Given the description of an element on the screen output the (x, y) to click on. 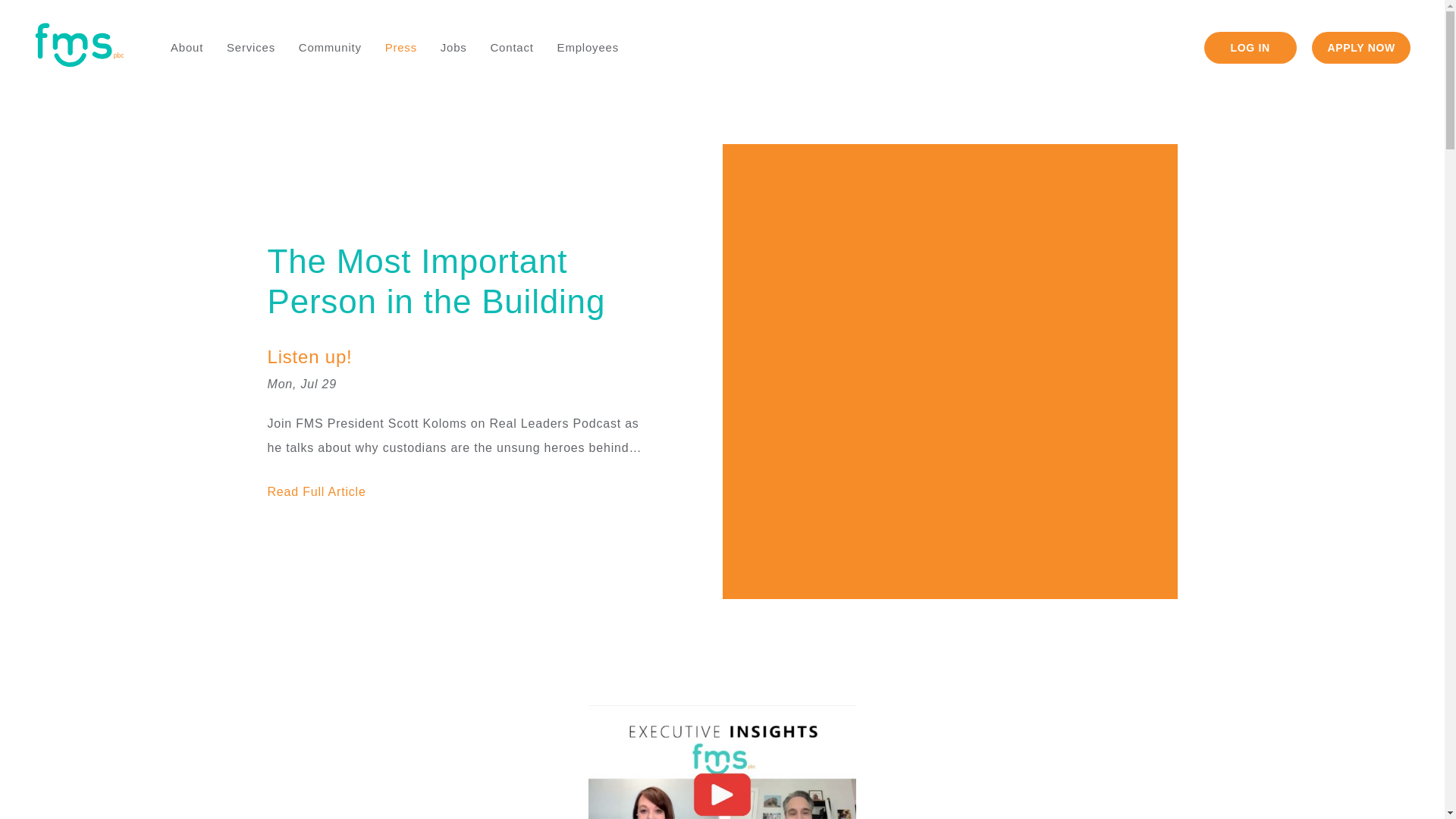
LOG IN (1250, 47)
Services (250, 47)
About (186, 47)
Press (401, 47)
Read Full Article (315, 491)
Jobs (454, 47)
APPLY NOW (1360, 47)
Community (329, 47)
Contact (511, 47)
Employees (588, 47)
